Given the description of an element on the screen output the (x, y) to click on. 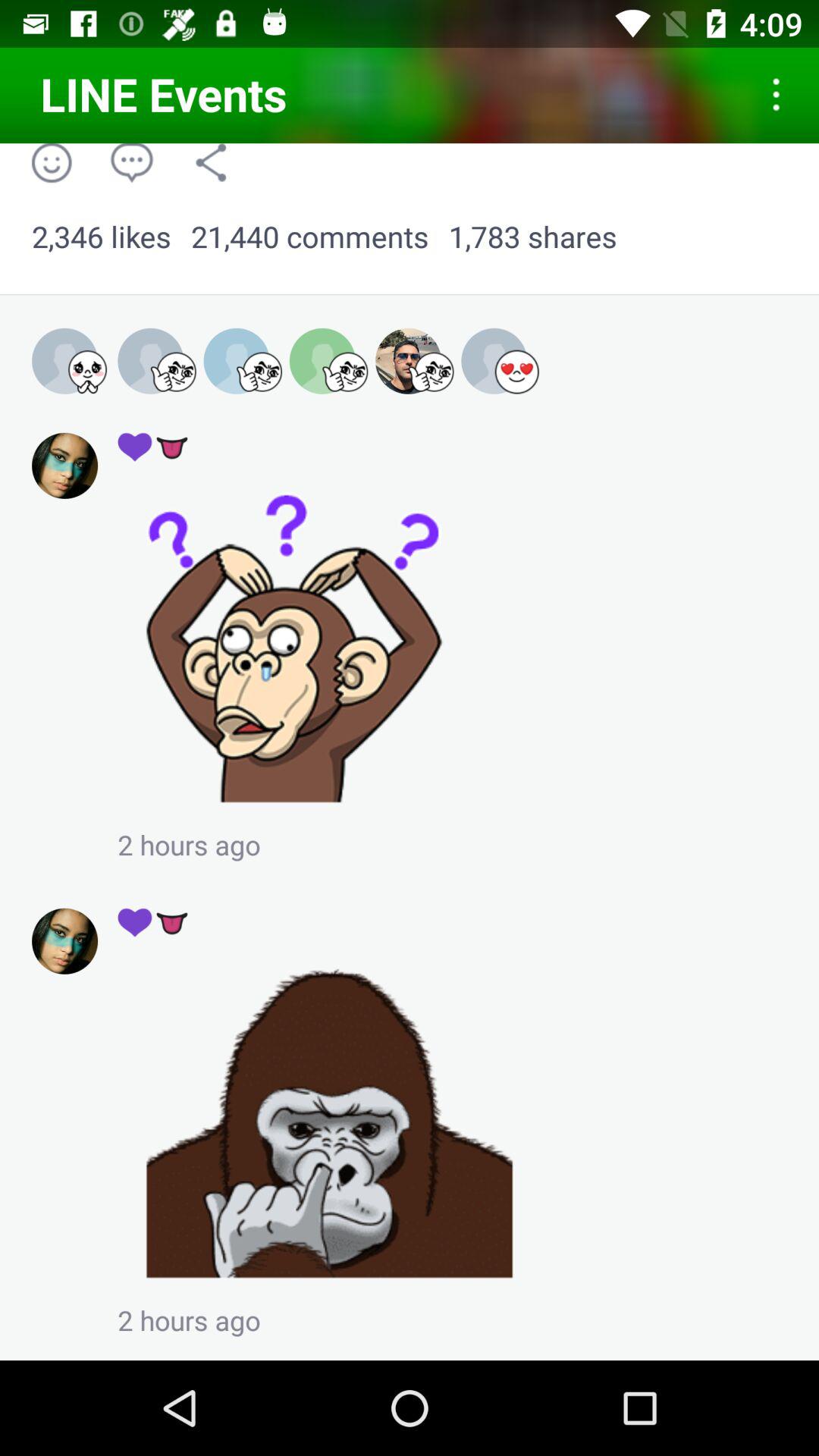
swipe to the 2,346 likes item (101, 237)
